Given the description of an element on the screen output the (x, y) to click on. 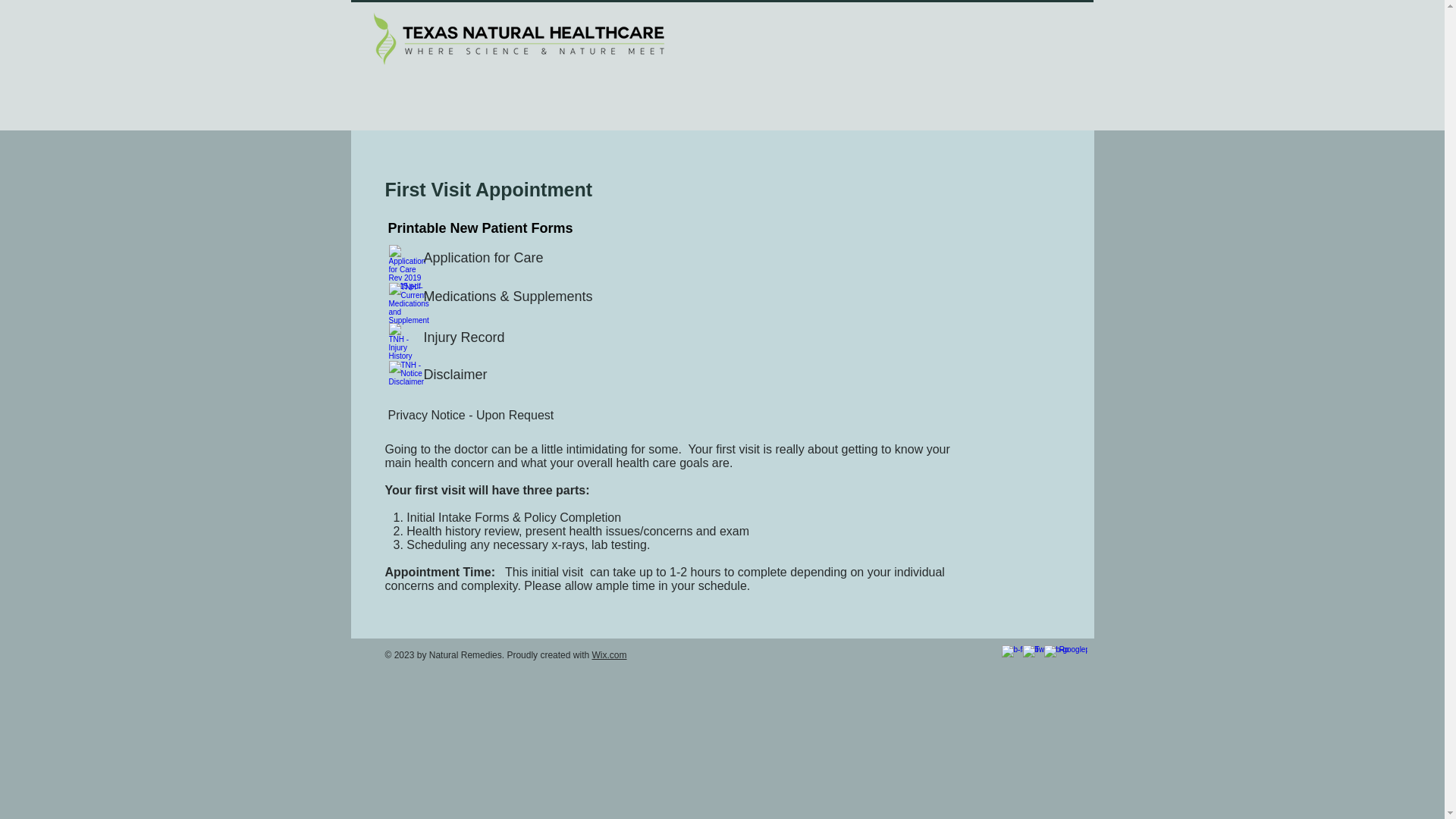
Wix.com (608, 655)
TNH - Notice Disclaimer (399, 375)
Application for Care Rev 2019 10-15.pdf (399, 258)
TNH - Injury History (399, 337)
